Given the description of an element on the screen output the (x, y) to click on. 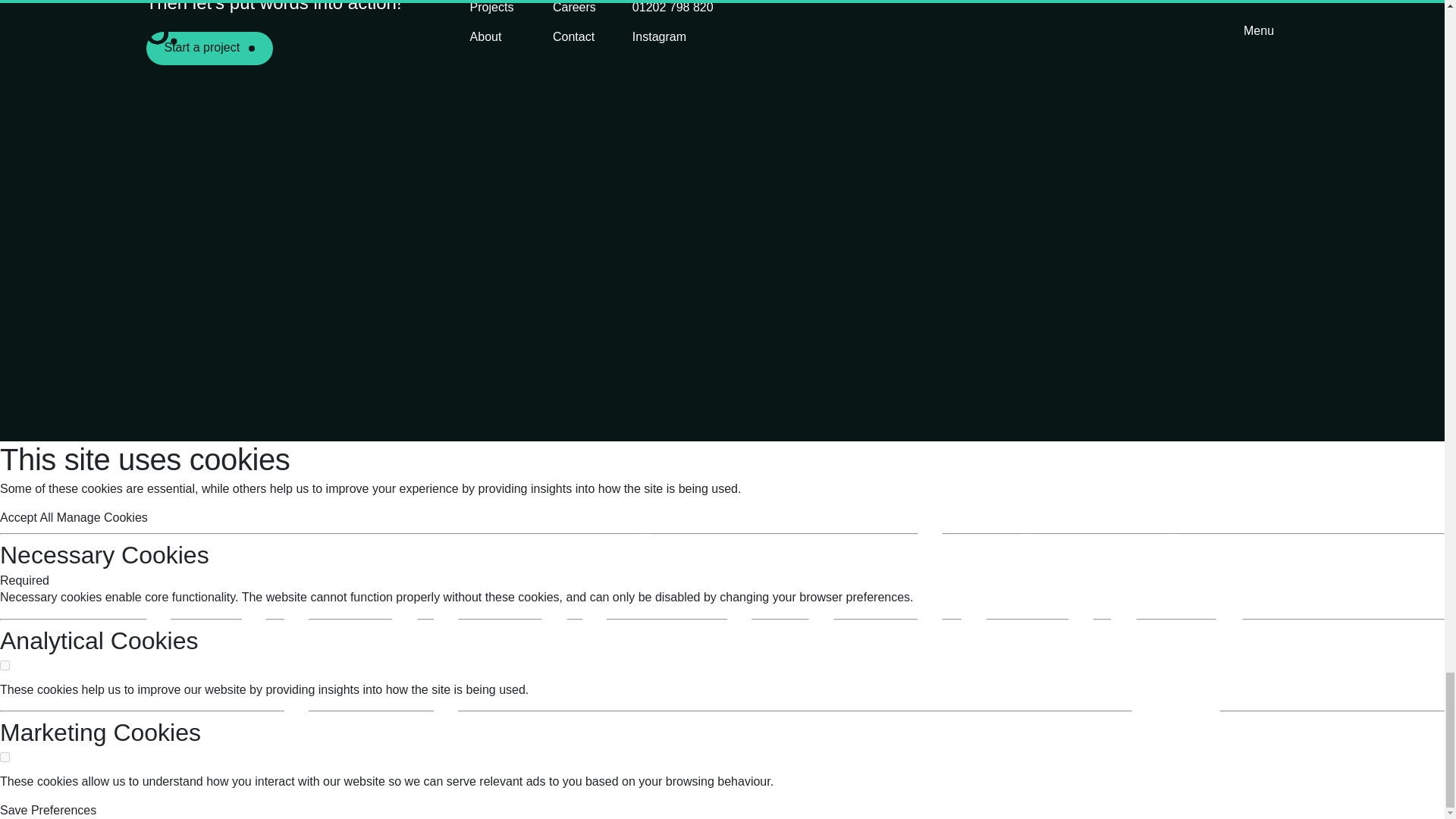
Instagram (658, 36)
01202 798 820 (672, 7)
Start a project (209, 48)
Contact (573, 36)
on (5, 757)
Projects (491, 7)
About (486, 36)
Careers (574, 7)
on (5, 665)
